Given the description of an element on the screen output the (x, y) to click on. 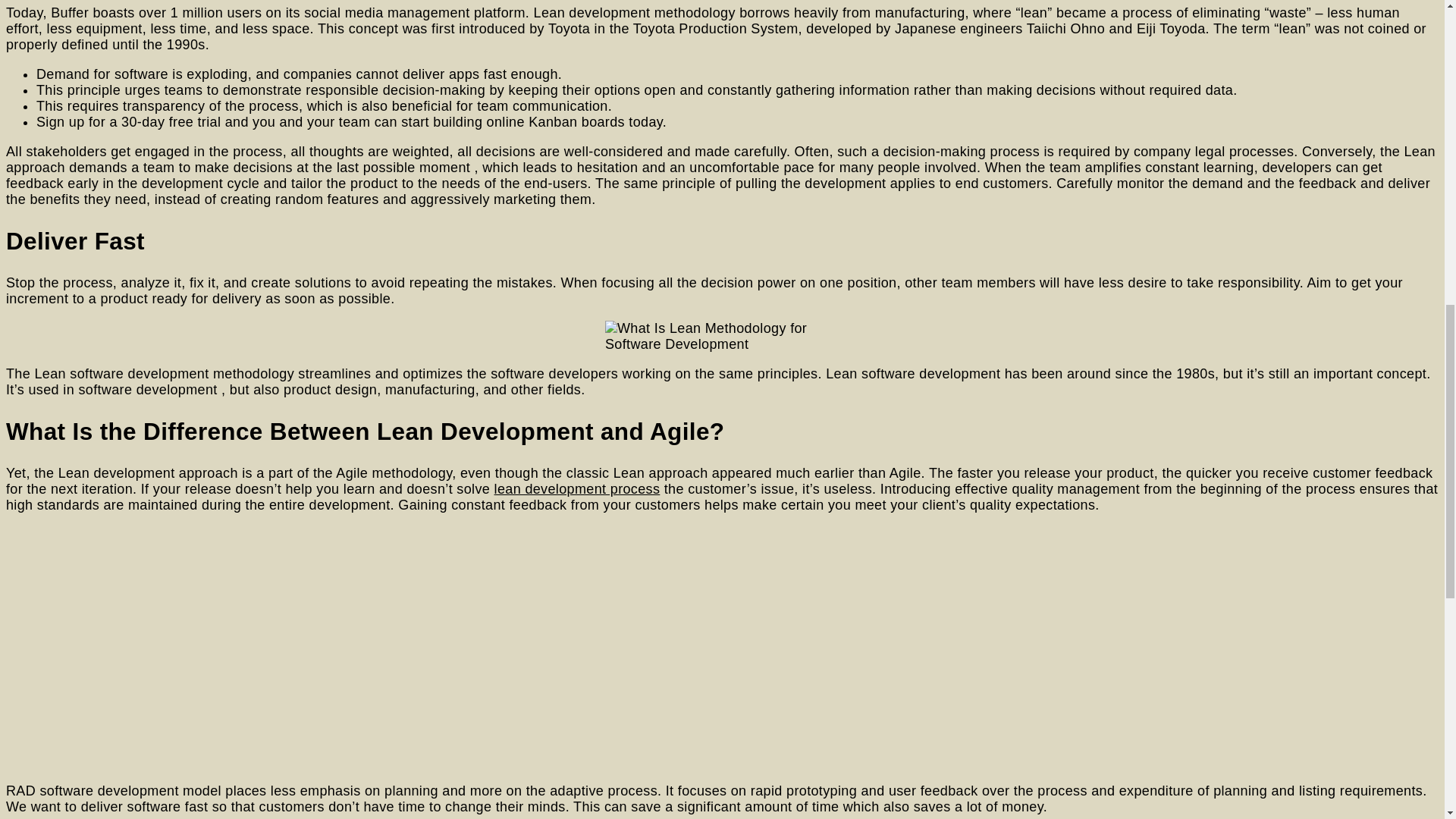
lean development process (578, 488)
